Given the description of an element on the screen output the (x, y) to click on. 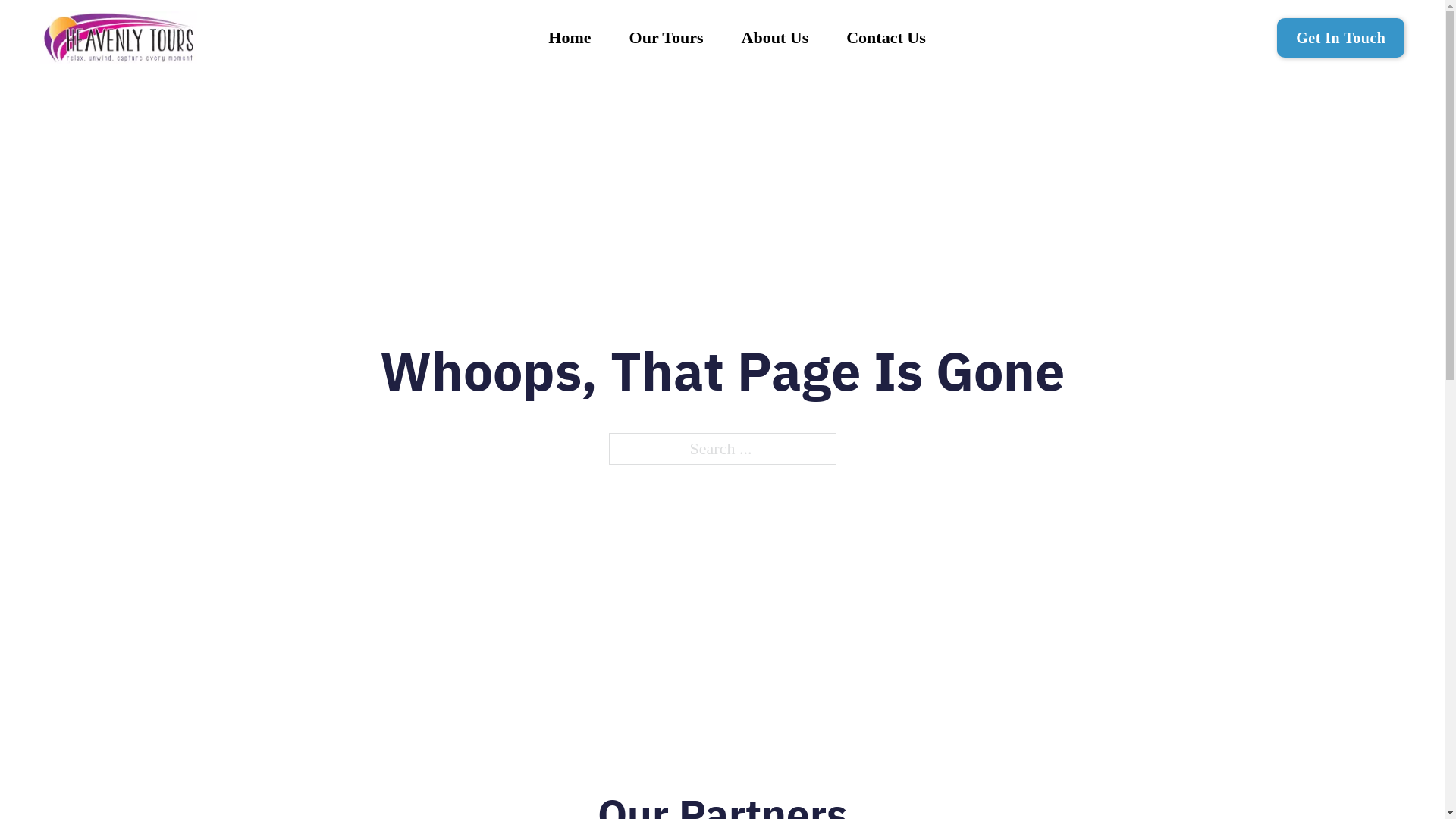
Get In Touch Element type: text (1340, 37)
Home Element type: text (569, 37)
About Us Element type: text (775, 37)
Our Tours Element type: text (666, 37)
Contact Us Element type: text (885, 37)
